Given the description of an element on the screen output the (x, y) to click on. 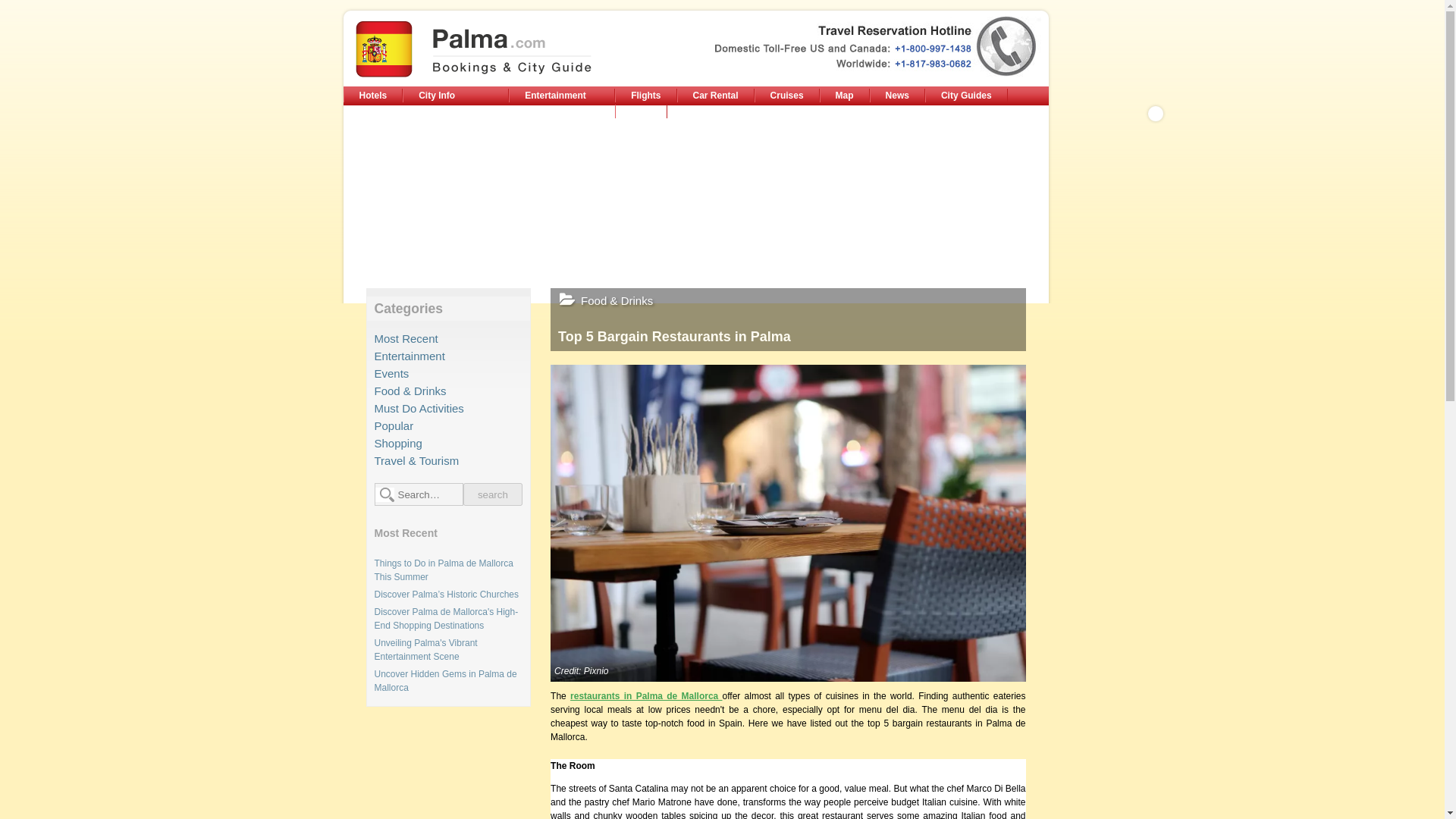
restaurants in Palma de Mallorca (646, 696)
Unveiling Palma's Vibrant Entertainment Scene (425, 649)
search (492, 494)
Discover Palma de Mallorca's High-End Shopping Destinations (446, 618)
Car Rental (715, 95)
Most Recent (406, 338)
Blog (640, 110)
Things to Do in Palma de Mallorca This Summer (443, 569)
Popular (393, 425)
Flights (645, 95)
